Given the description of an element on the screen output the (x, y) to click on. 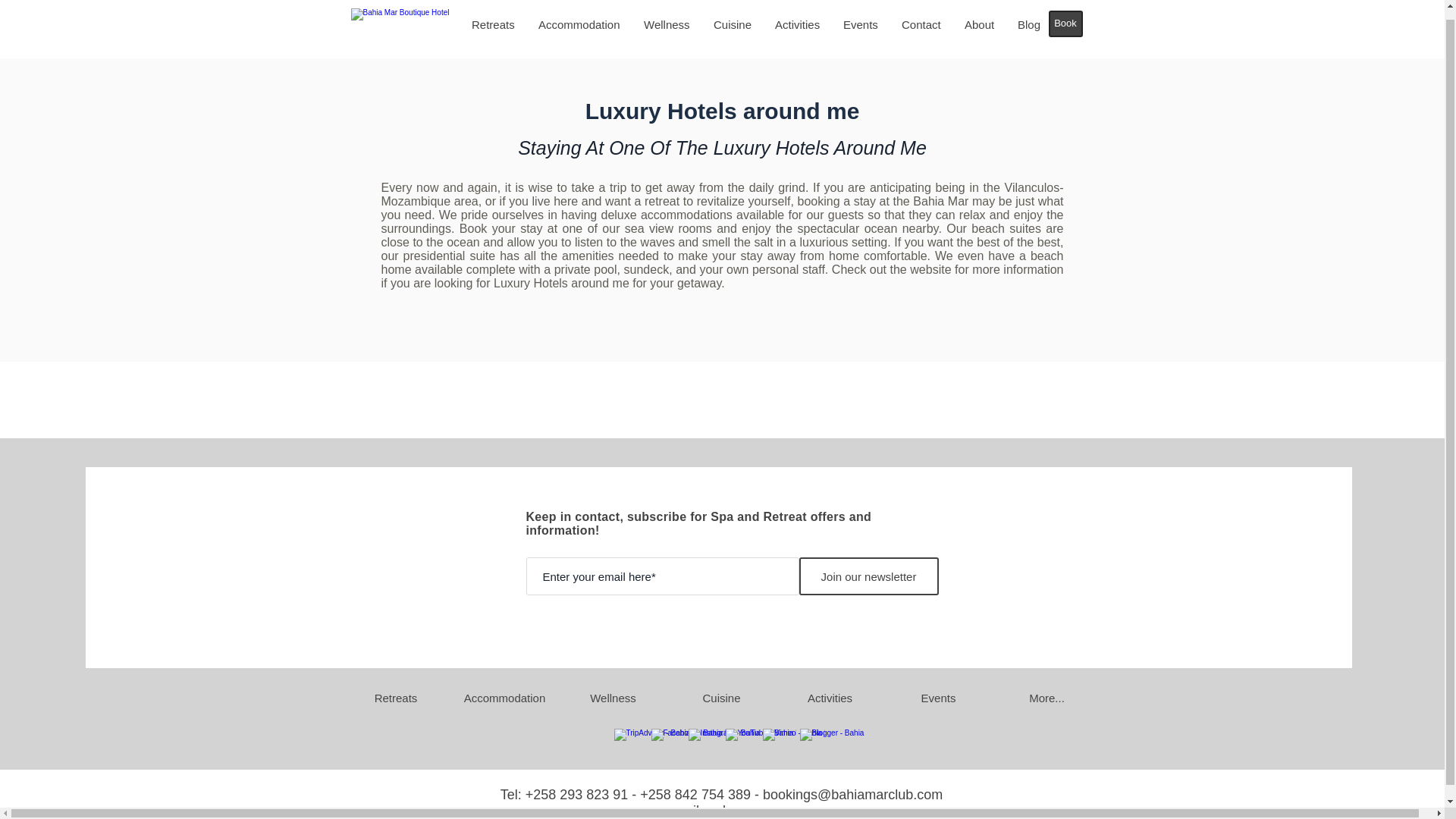
Contact (920, 24)
Blog (1028, 24)
Activities (828, 697)
Book (1064, 23)
Retreats (492, 24)
Retreats (394, 697)
Cuisine (731, 24)
Cuisine (721, 697)
Accommodation (504, 697)
Join our newsletter (869, 576)
Wellness (611, 697)
Activities (796, 24)
Wellness (666, 24)
Accommodation (579, 24)
Events (860, 24)
